Given the description of an element on the screen output the (x, y) to click on. 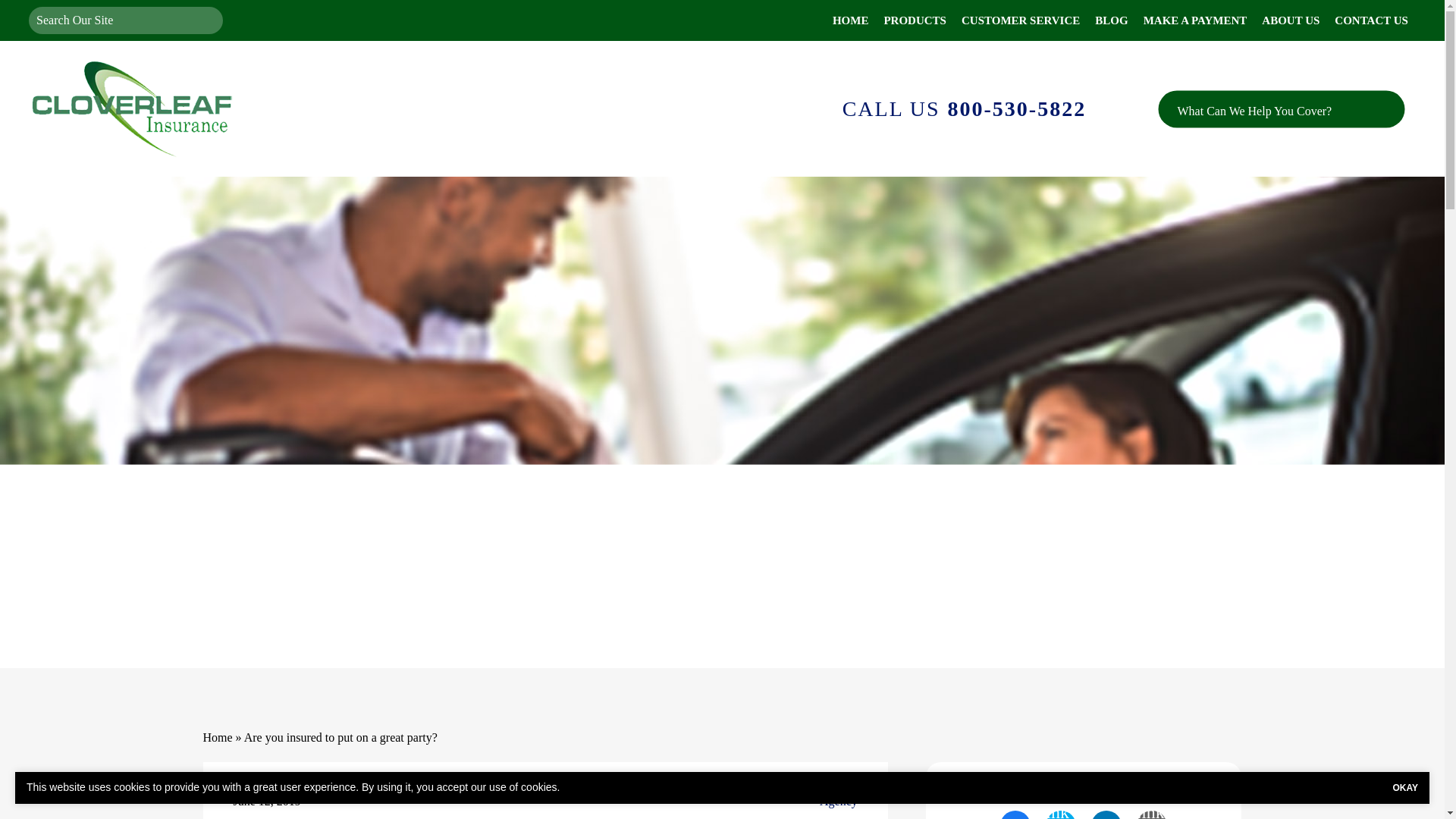
Agency (838, 801)
BLOG (1111, 20)
Agency (838, 801)
CONTACT US (1370, 20)
CUSTOMER SERVICE (1020, 20)
ABOUT US (1289, 20)
Share Link to LinkedIn (1105, 814)
HOME (850, 20)
Home (217, 737)
Share Link to Twitter (1060, 814)
